Given the description of an element on the screen output the (x, y) to click on. 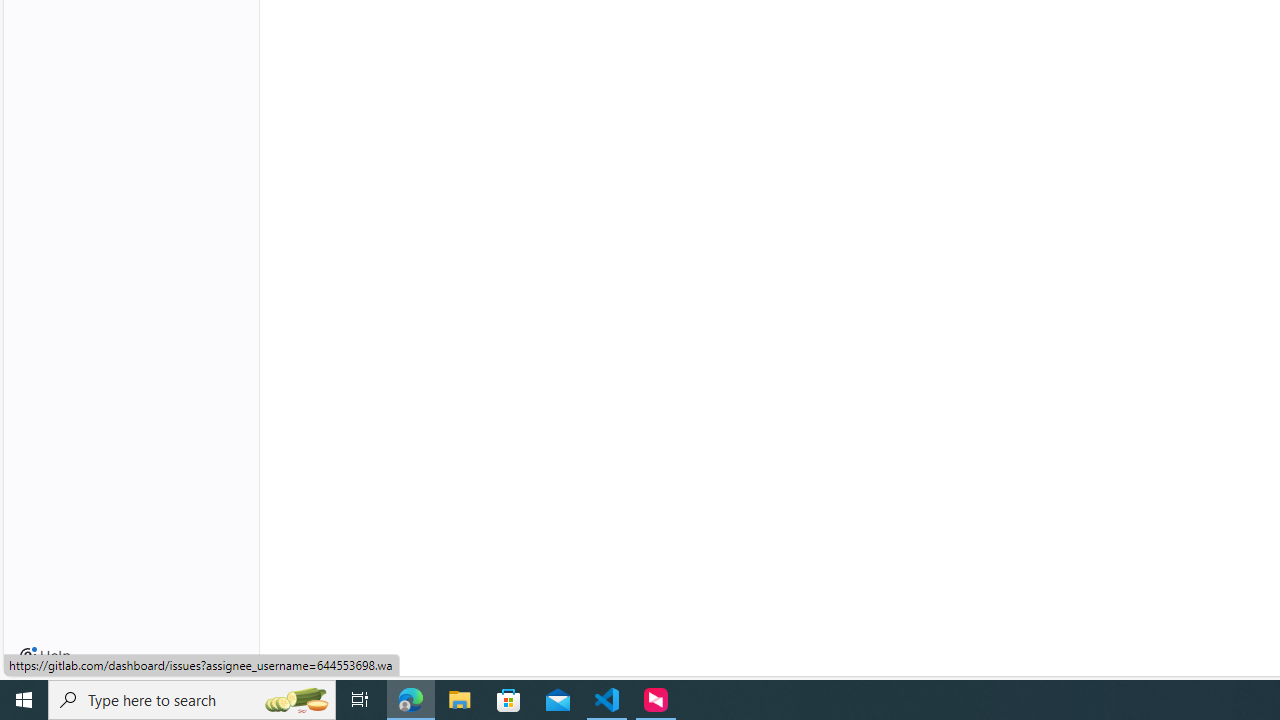
Help (45, 655)
